Given the description of an element on the screen output the (x, y) to click on. 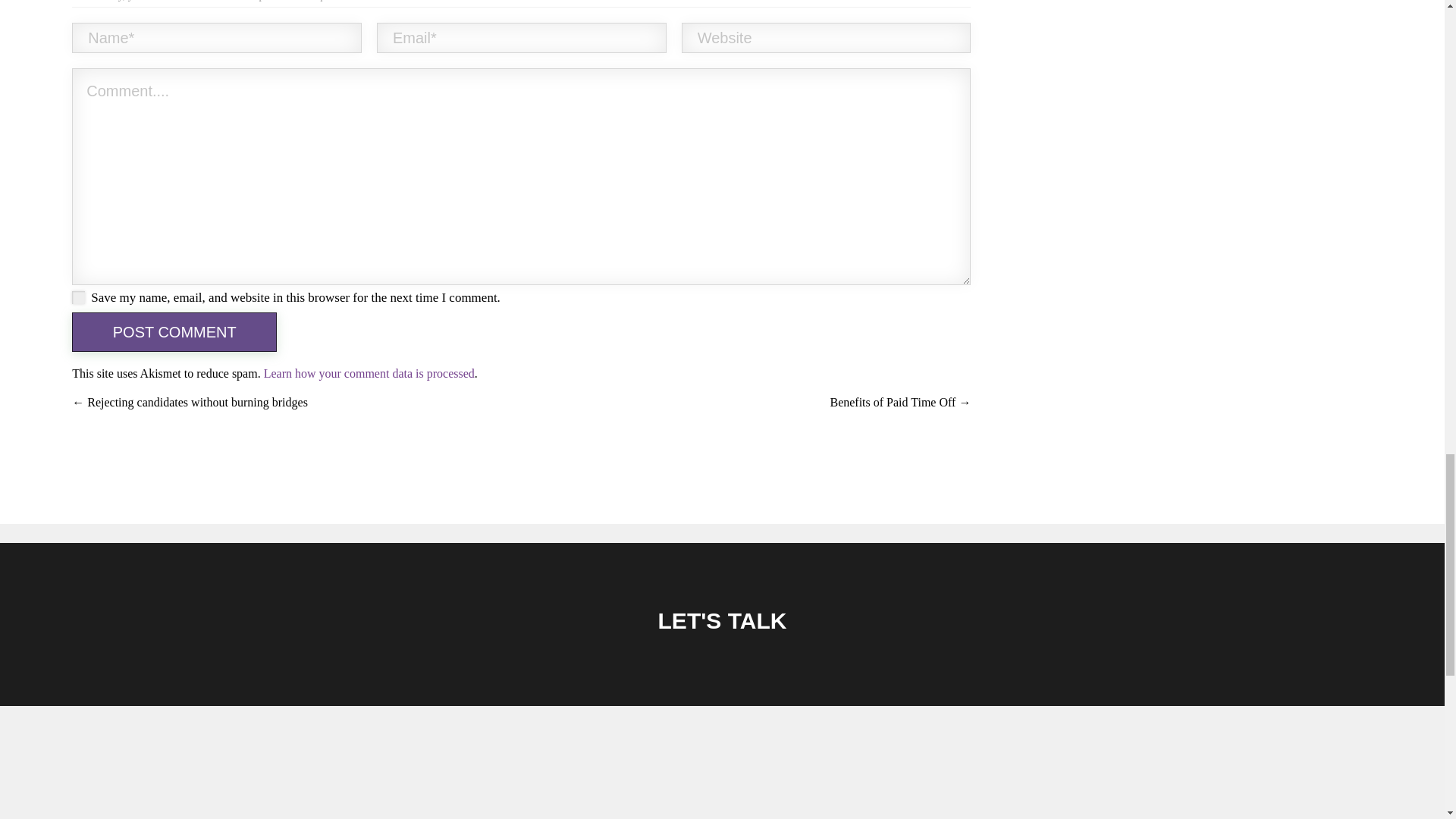
Post Comment (173, 332)
